Given the description of an element on the screen output the (x, y) to click on. 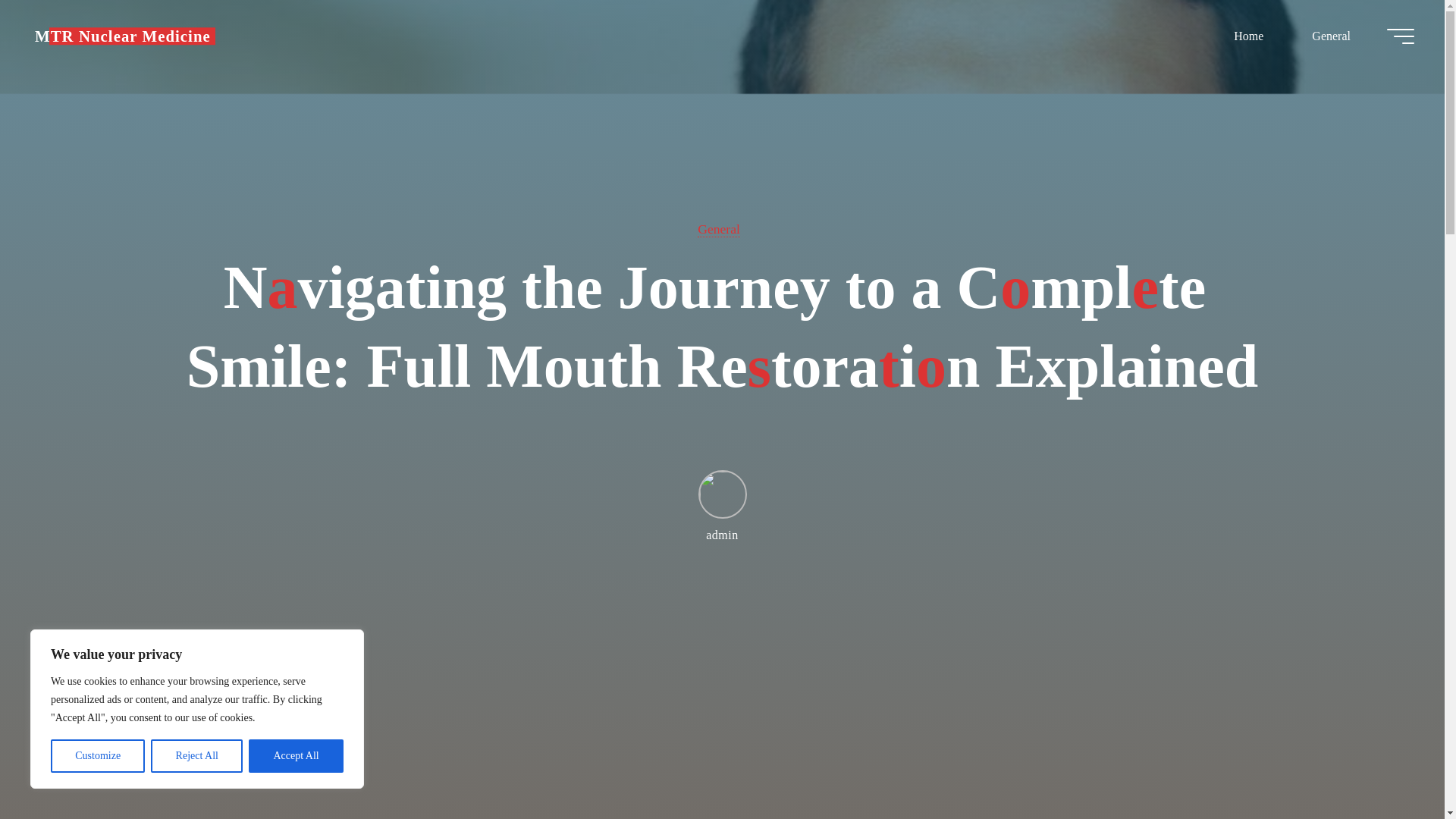
Customize (97, 756)
Read more (721, 724)
Reject All (197, 756)
Blog (122, 36)
Accept All (295, 756)
General (1330, 35)
Home (1248, 35)
MTR Nuclear Medicine (122, 36)
General (718, 229)
